Given the description of an element on the screen output the (x, y) to click on. 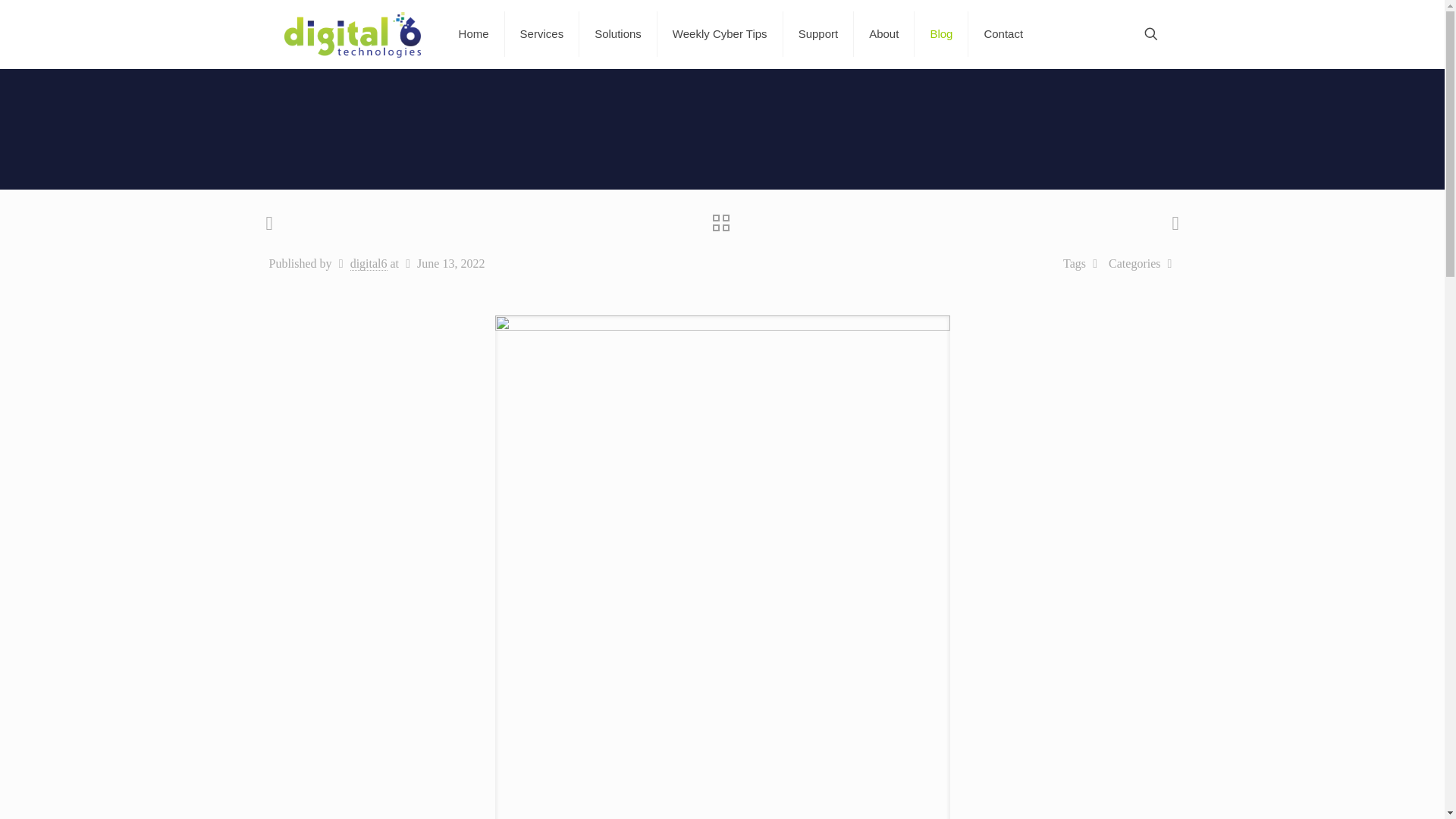
Support (818, 33)
Home (474, 33)
Weekly Cyber Tips (720, 33)
Services (542, 33)
Contact (1003, 33)
Digital6 Technologies (351, 33)
digital6 (368, 264)
Solutions (618, 33)
About (883, 33)
